Given the description of an element on the screen output the (x, y) to click on. 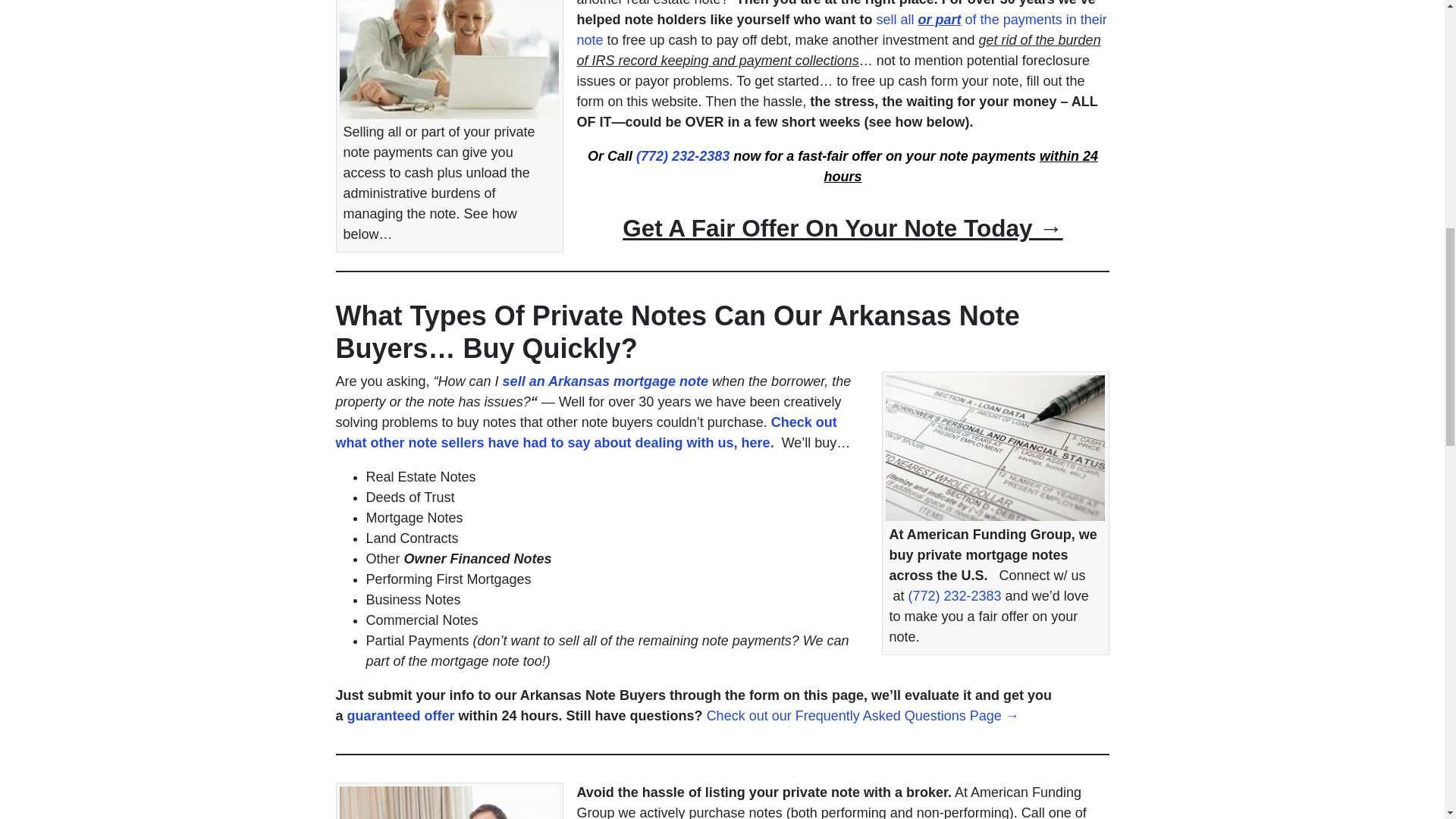
guaranteed offer (400, 715)
sell all or part of the payments in their note (841, 29)
sell an Arkansas mortgage note (604, 381)
